Given the description of an element on the screen output the (x, y) to click on. 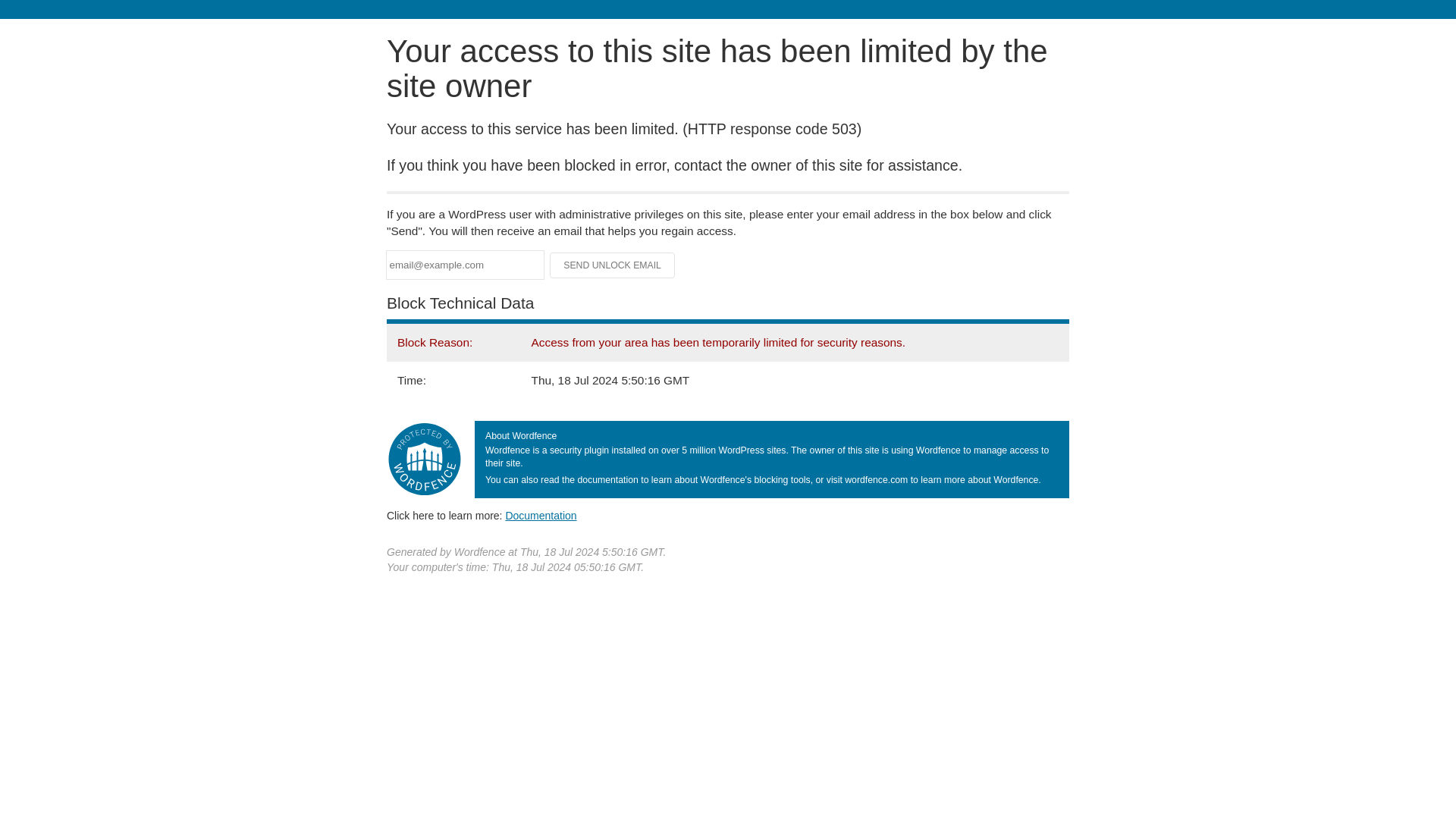
Documentation (540, 515)
Send Unlock Email (612, 265)
Send Unlock Email (612, 265)
